Given the description of an element on the screen output the (x, y) to click on. 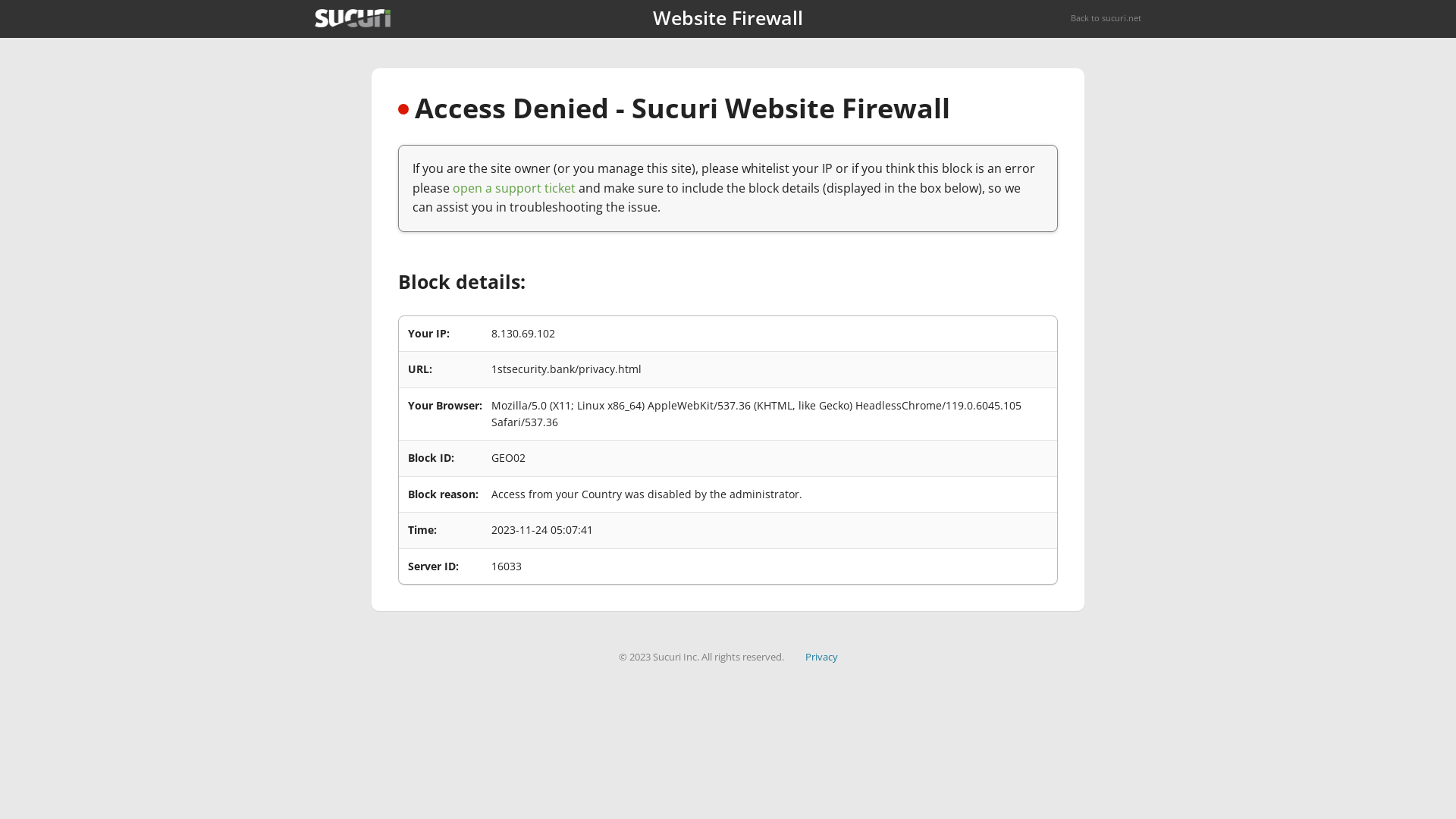
Privacy Element type: text (821, 656)
open a support ticket Element type: text (513, 187)
Back to sucuri.net Element type: text (1105, 18)
